Given the description of an element on the screen output the (x, y) to click on. 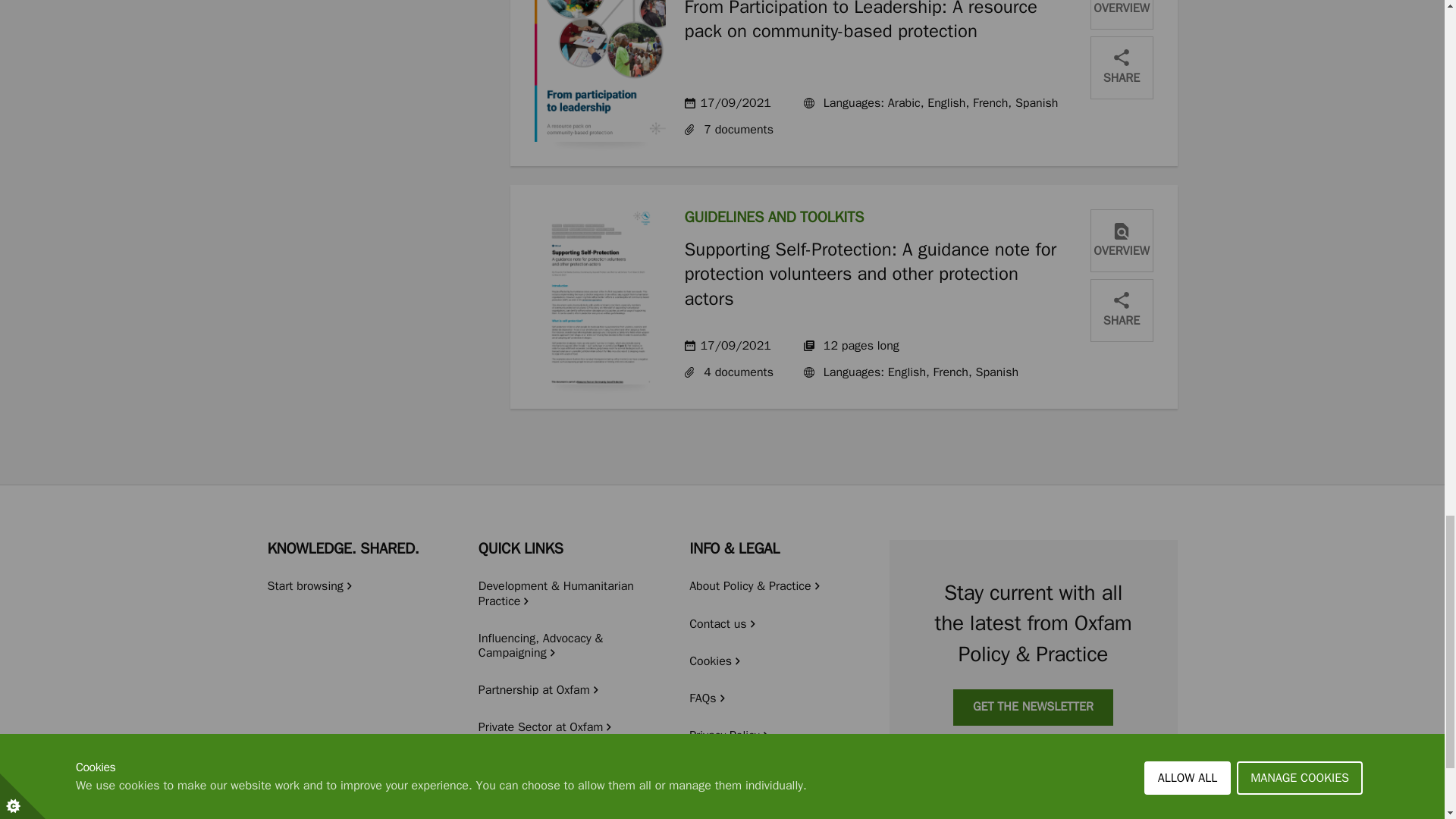
Get the newsletter (1032, 707)
